Given the description of an element on the screen output the (x, y) to click on. 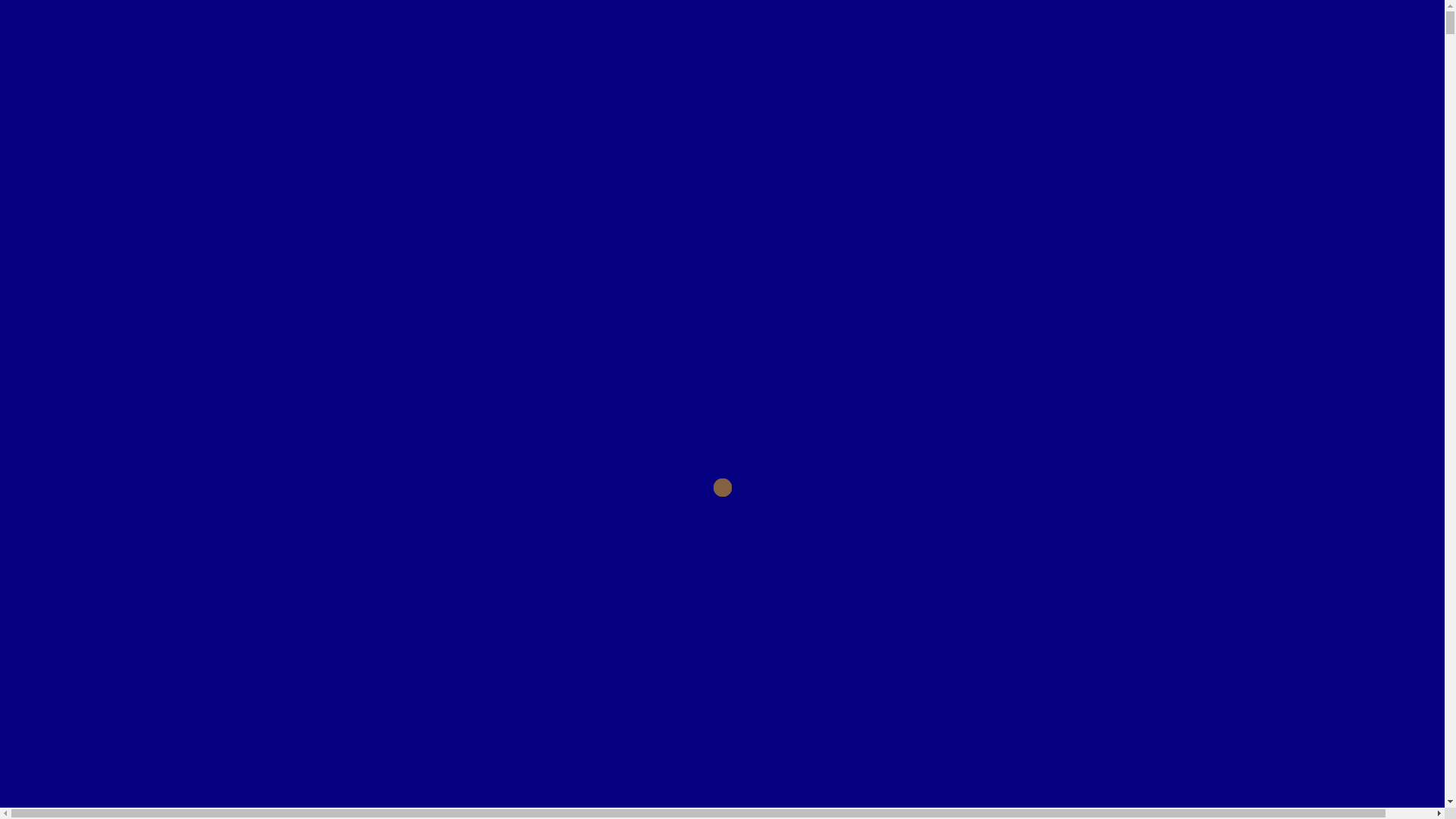
Shareholder Services Element type: text (154, 392)
Contact Element type: text (51, 604)
Company Profile Element type: text (113, 185)
Video Interviews Element type: text (113, 541)
Share Price Element type: text (97, 334)
Share Price Element type: text (128, 376)
News & Updates Element type: text (76, 514)
Shareholder Information Element type: text (133, 350)
Quarterly Reports Element type: text (145, 482)
Projects Element type: text (52, 233)
Overview Element type: text (93, 302)
At the Heart of the Lithium Triangle Element type: hover (112, 620)
At the Heart of the Lithium Triangle Element type: hover (731, 316)
Half/Full Year Reports Element type: text (159, 498)
All Reports Element type: text (128, 466)
ASX Announcements Element type: text (125, 318)
Company Reports Element type: text (116, 424)
Image Gallery Element type: text (105, 557)
Kachi Element type: text (82, 259)
Webinars Element type: text (92, 588)
Presentations Element type: text (102, 572)
Corporate Directory Element type: text (152, 450)
Corporate Directory Element type: text (121, 408)
About Element type: text (47, 158)
Investors Element type: text (55, 275)
Corporate Governance Element type: text (128, 217)
Board & Management Element type: text (127, 201)
